Given the description of an element on the screen output the (x, y) to click on. 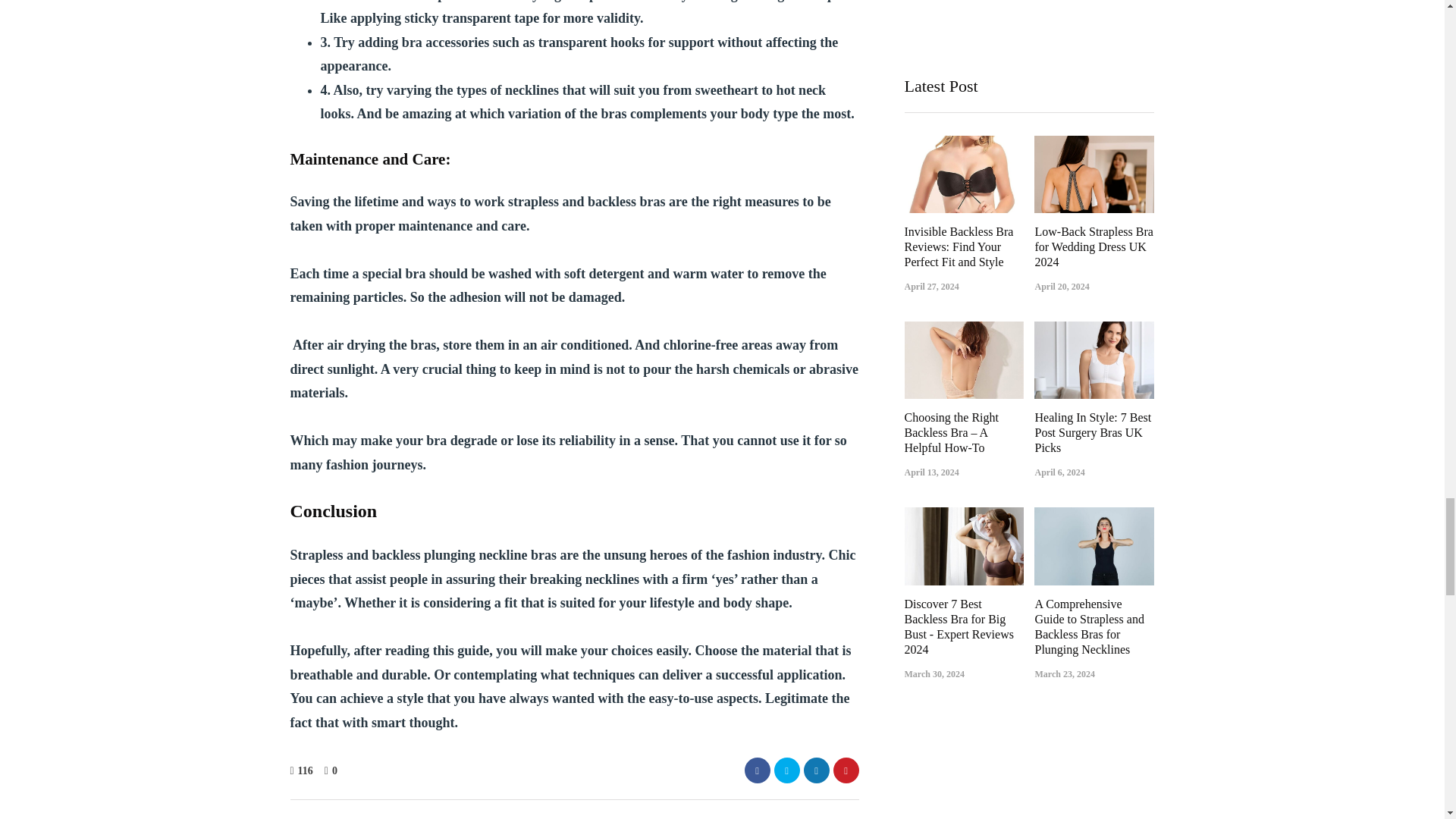
Pin this (845, 769)
Share with Facebook (757, 769)
Tweet this (786, 769)
Share with LinkedIn (816, 769)
